Given the description of an element on the screen output the (x, y) to click on. 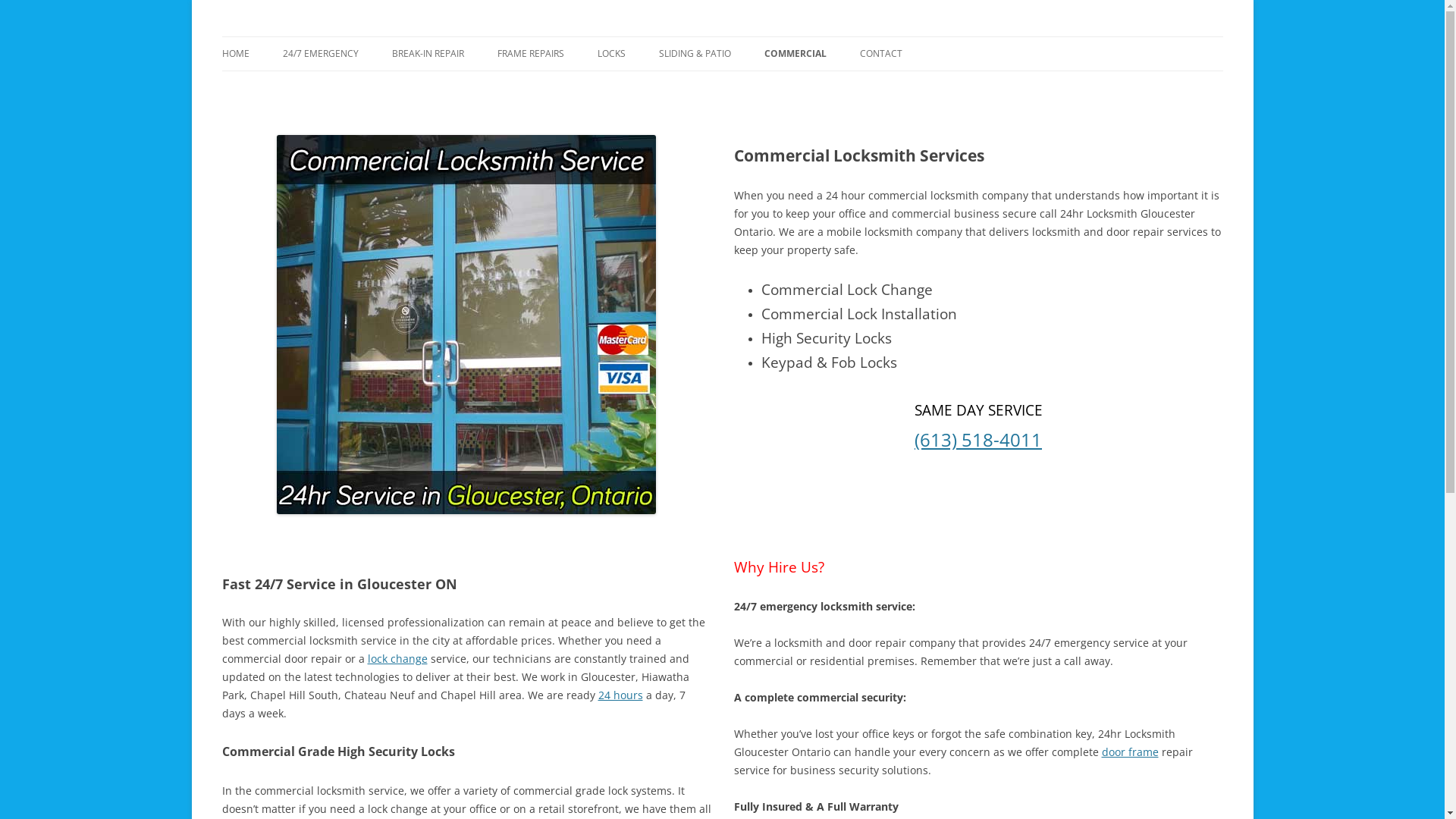
FRAME REPAIRS Element type: text (530, 53)
COMMERCIAL Element type: text (795, 53)
24/7 EMERGENCY Element type: text (319, 53)
Skip to content Element type: text (721, 36)
CONTACT Element type: text (880, 53)
24hr Locksmith Gloucester Ontario Element type: text (393, 36)
LOCKS Element type: text (611, 53)
lock change Element type: text (396, 658)
HOME Element type: text (234, 53)
SLIDING & PATIO Element type: text (694, 53)
door frame Element type: text (1129, 751)
(613) 518-4011 Element type: text (977, 438)
BREAK-IN REPAIR Element type: text (427, 53)
24 hours Element type: text (619, 694)
